Given the description of an element on the screen output the (x, y) to click on. 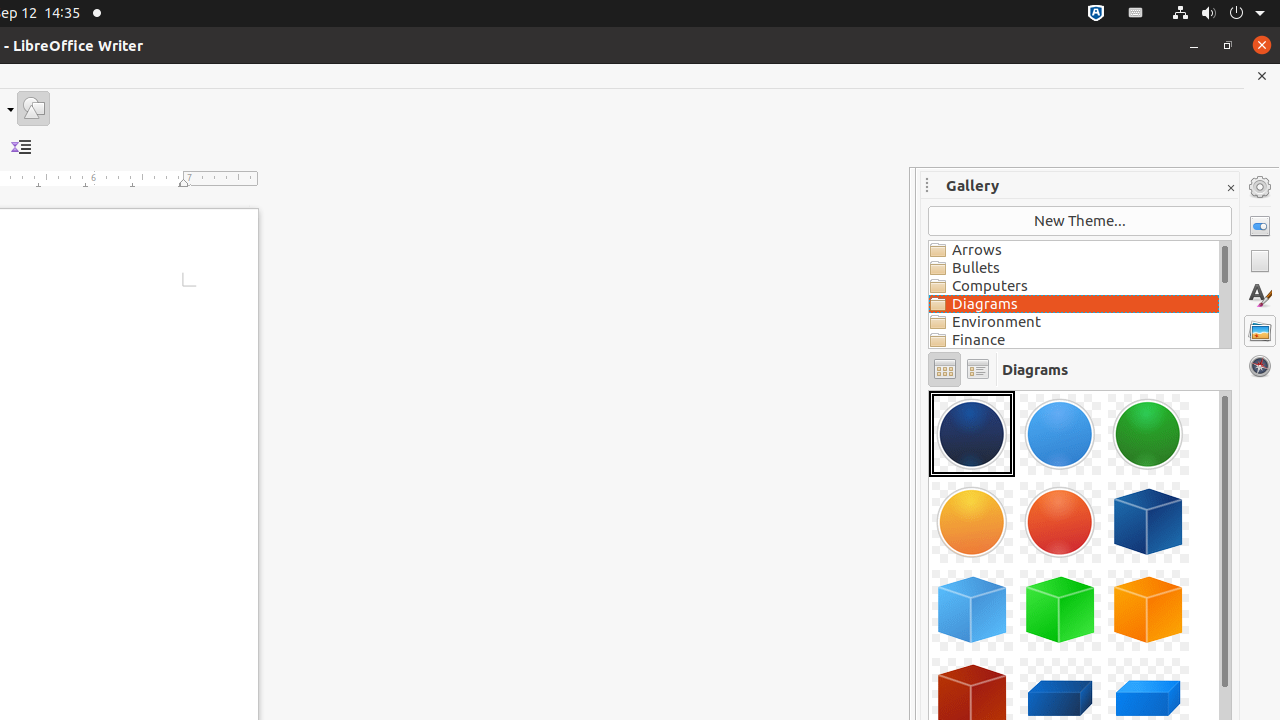
Component-Circle04-Transparent-Orange Element type: list-item (972, 522)
Component-Circle02-Transparent-Bule Element type: list-item (1060, 433)
Navigator Element type: radio-button (1260, 366)
Component-Cube02-LightBlue Element type: list-item (972, 610)
Component-Circle05-Transparent-Red Element type: list-item (1060, 522)
